Given the description of an element on the screen output the (x, y) to click on. 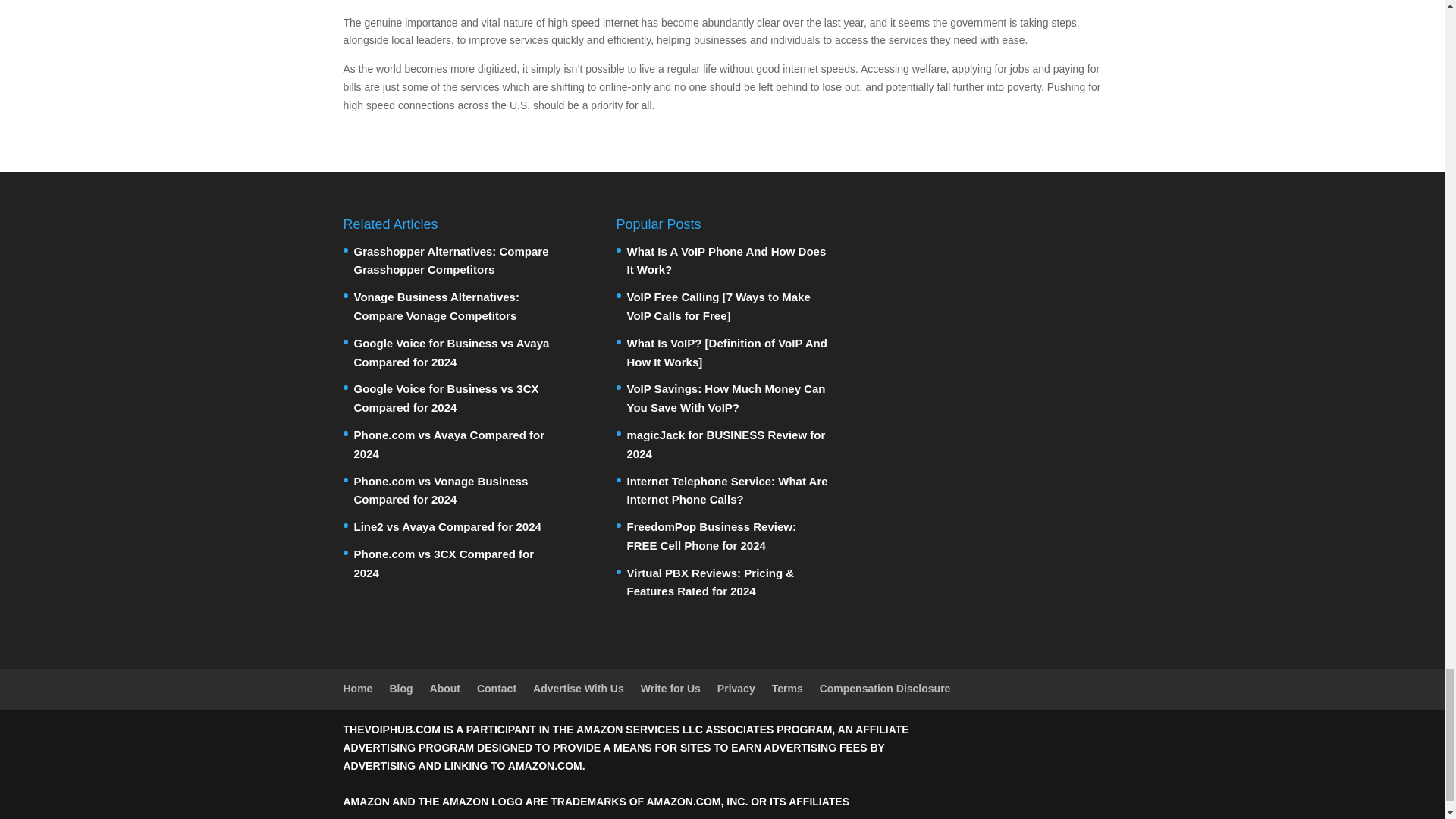
VoIP Savings: How Much Money Can You Save With VoIP? (725, 398)
Google Voice for Business vs Avaya Compared for 2024 (450, 352)
Vonage Business Alternatives: Compare Vonage Competitors (435, 306)
Phone.com vs Vonage Business Compared for 2024 (440, 490)
Google Voice for Business vs 3CX Compared for 2024 (445, 398)
magicJack for BUSINESS Review for 2024 (725, 444)
Phone.com vs 3CX Compared for 2024 (443, 563)
Line2 vs Avaya Compared for 2024 (446, 526)
Grasshopper Alternatives: Compare Grasshopper Competitors (450, 260)
What Is A VoIP Phone And How Does It Work? (725, 260)
Internet Telephone Service: What Are Internet Phone Calls? (726, 490)
Phone.com vs Avaya Compared for 2024 (448, 444)
